Given the description of an element on the screen output the (x, y) to click on. 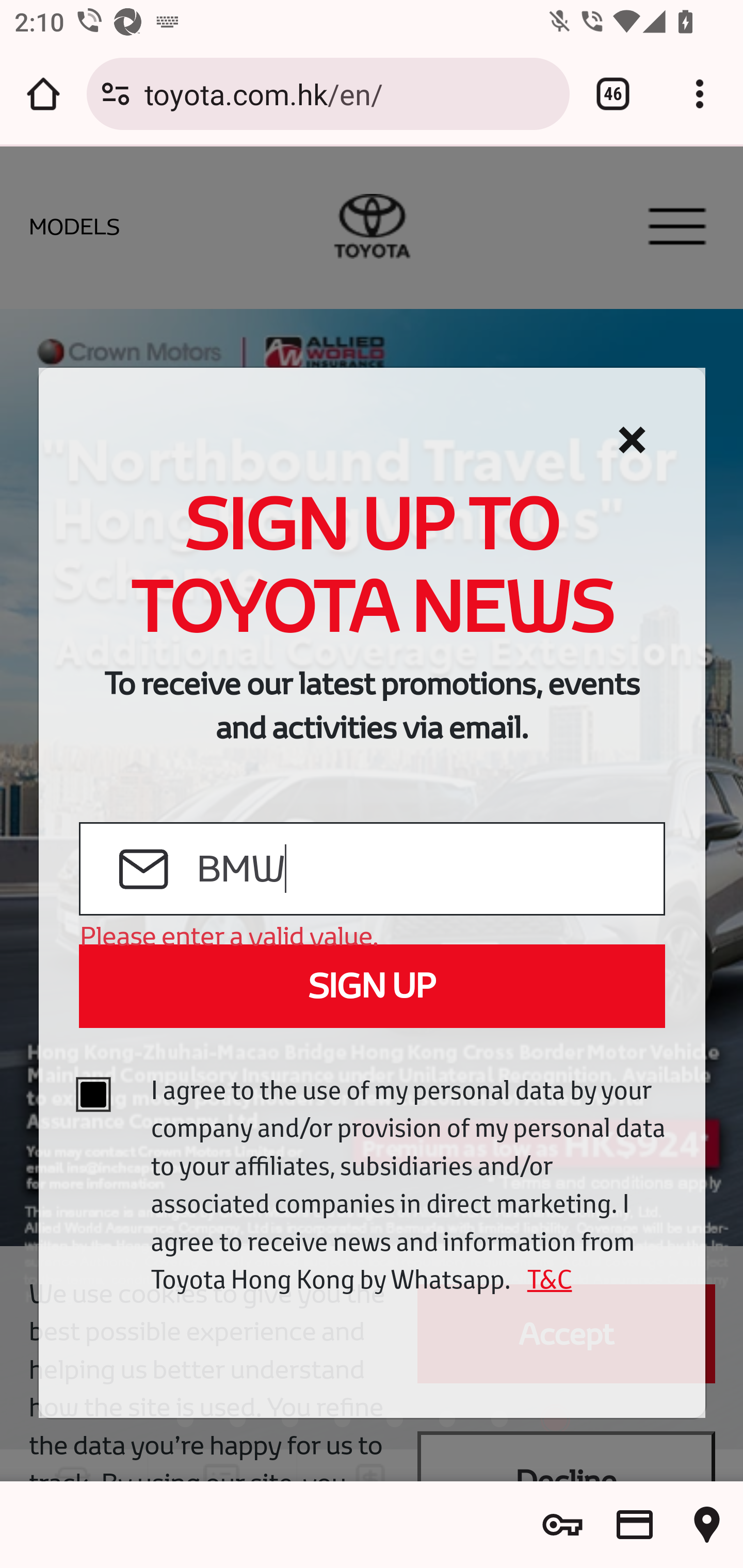
Open the home page (43, 93)
Connection is secure (115, 93)
Switch or close tabs (612, 93)
Customize and control Google Chrome (699, 93)
toyota.com.hk/en/ (349, 92)
Cerrar (631, 440)
BMW (429, 869)
SIGN UP (371, 985)
T&C (543, 1279)
Show saved passwords and password options (562, 1524)
Show saved payment methods (634, 1524)
Show saved addresses (706, 1524)
